Given the description of an element on the screen output the (x, y) to click on. 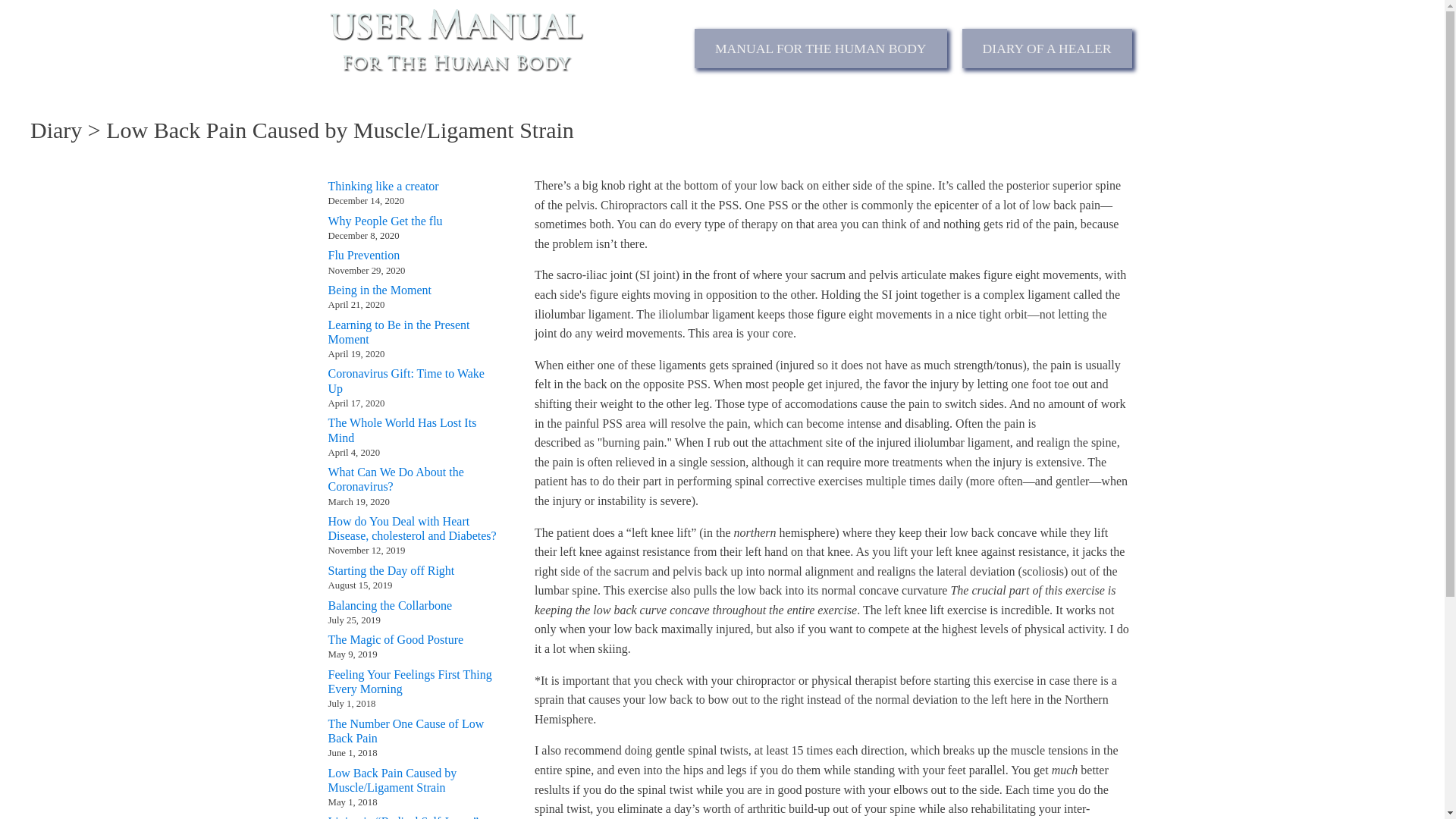
The Magic of Good Posture (395, 639)
DIARY OF A HEALER (1047, 47)
Flu Prevention (362, 255)
The Number One Cause of Low Back Pain (411, 730)
Starting the Day off Right (390, 570)
Coronavirus Gift: Time to Wake Up (411, 380)
Being in the Moment (378, 289)
Learning to Be in the Present Moment (411, 331)
Feeling Your Feelings First Thing Every Morning (411, 681)
What Can We Do About the Coronavirus? (411, 479)
MANUAL FOR THE HUMAN BODY (820, 47)
Thinking like a creator (382, 186)
Balancing the Collarbone (389, 604)
The Whole World Has Lost Its Mind (411, 429)
